Given the description of an element on the screen output the (x, y) to click on. 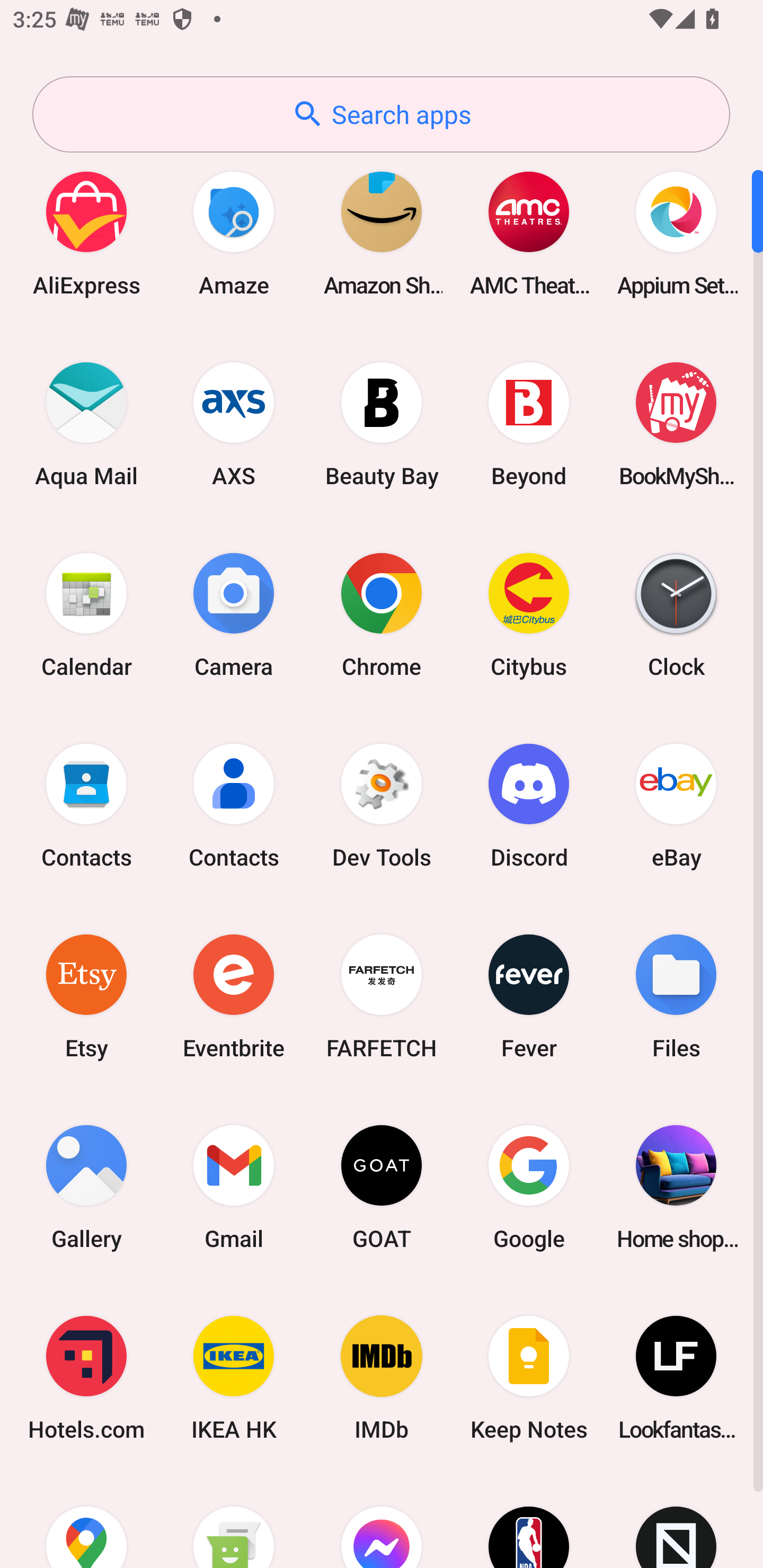
  Search apps (381, 114)
AliExpress (86, 233)
Amaze (233, 233)
Amazon Shopping (381, 233)
AMC Theatres (528, 233)
Appium Settings (676, 233)
Aqua Mail (86, 424)
AXS (233, 424)
Beauty Bay (381, 424)
Beyond (528, 424)
BookMyShow (676, 424)
Calendar (86, 614)
Camera (233, 614)
Chrome (381, 614)
Citybus (528, 614)
Clock (676, 614)
Contacts (86, 805)
Contacts (233, 805)
Dev Tools (381, 805)
Discord (528, 805)
eBay (676, 805)
Etsy (86, 996)
Eventbrite (233, 996)
FARFETCH (381, 996)
Fever (528, 996)
Files (676, 996)
Gallery (86, 1186)
Gmail (233, 1186)
GOAT (381, 1186)
Google (528, 1186)
Home shopping (676, 1186)
Hotels.com (86, 1377)
IKEA HK (233, 1377)
IMDb (381, 1377)
Keep Notes (528, 1377)
Lookfantastic (676, 1377)
